Given the description of an element on the screen output the (x, y) to click on. 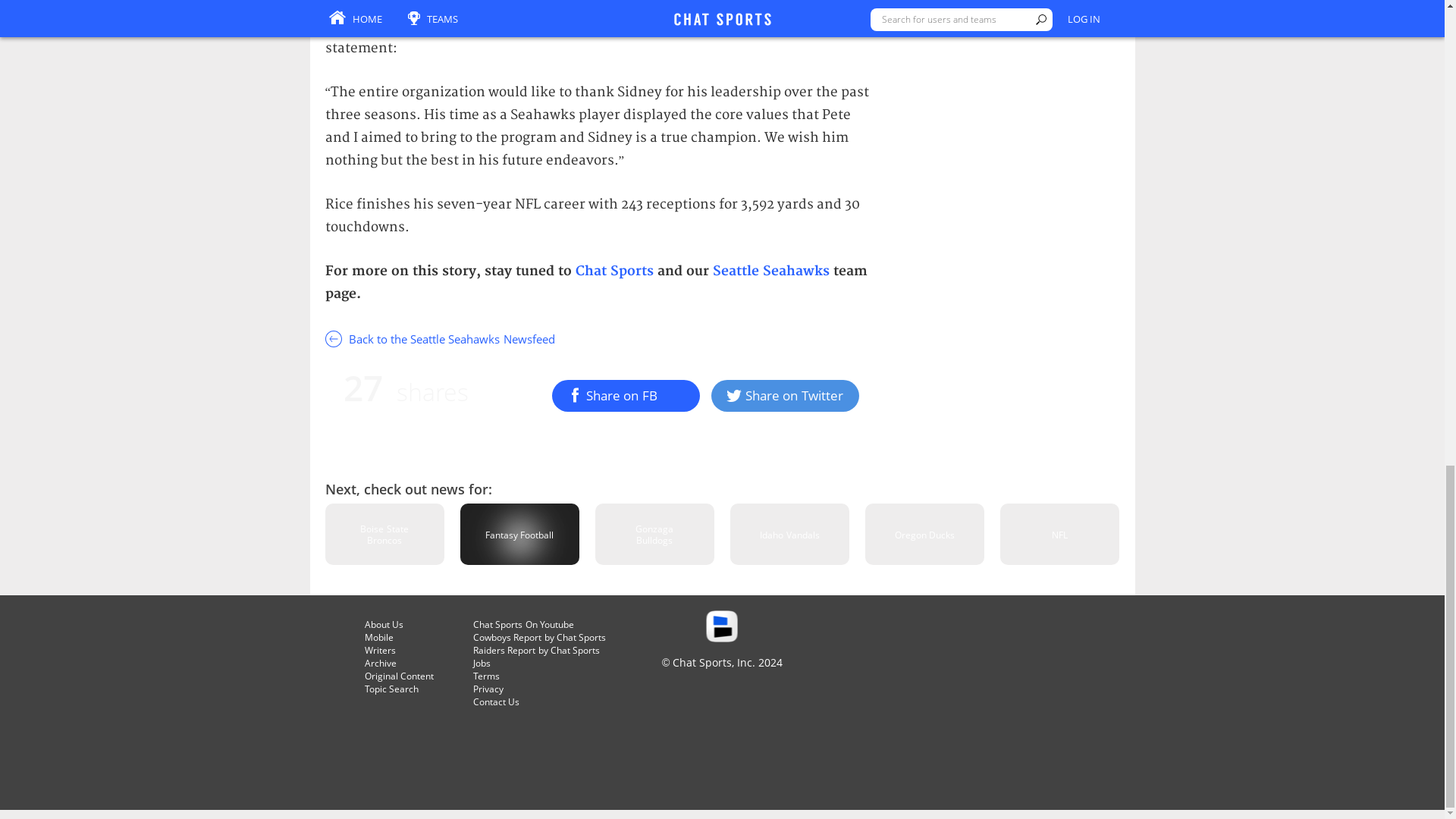
Chat Sports (613, 270)
Oregon Ducks (924, 534)
NFL (1059, 534)
Seattle Seahawks (772, 270)
Share on Twitter (785, 395)
Boise State Broncos (384, 534)
Gonzaga Bulldogs (654, 534)
Share on FB (625, 395)
Idaho Vandals (789, 534)
Back to the Seattle Seahawks Newsfeed (600, 338)
